Given the description of an element on the screen output the (x, y) to click on. 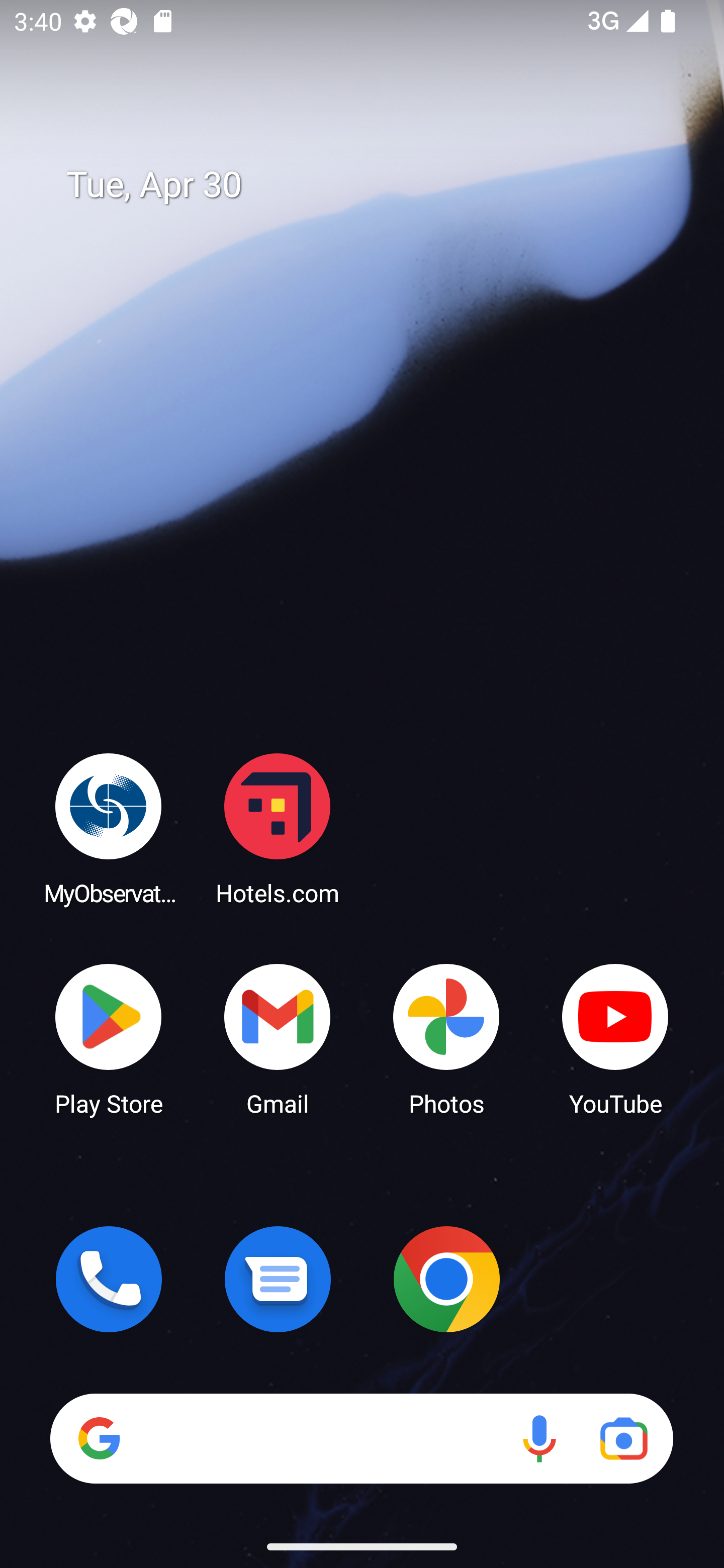
Tue, Apr 30 (375, 184)
MyObservatory (108, 828)
Hotels.com (277, 828)
Play Store (108, 1038)
Gmail (277, 1038)
Photos (445, 1038)
YouTube (615, 1038)
Phone (108, 1279)
Messages (277, 1279)
Chrome (446, 1279)
Search Voice search Google Lens (361, 1438)
Voice search (539, 1438)
Google Lens (623, 1438)
